Given the description of an element on the screen output the (x, y) to click on. 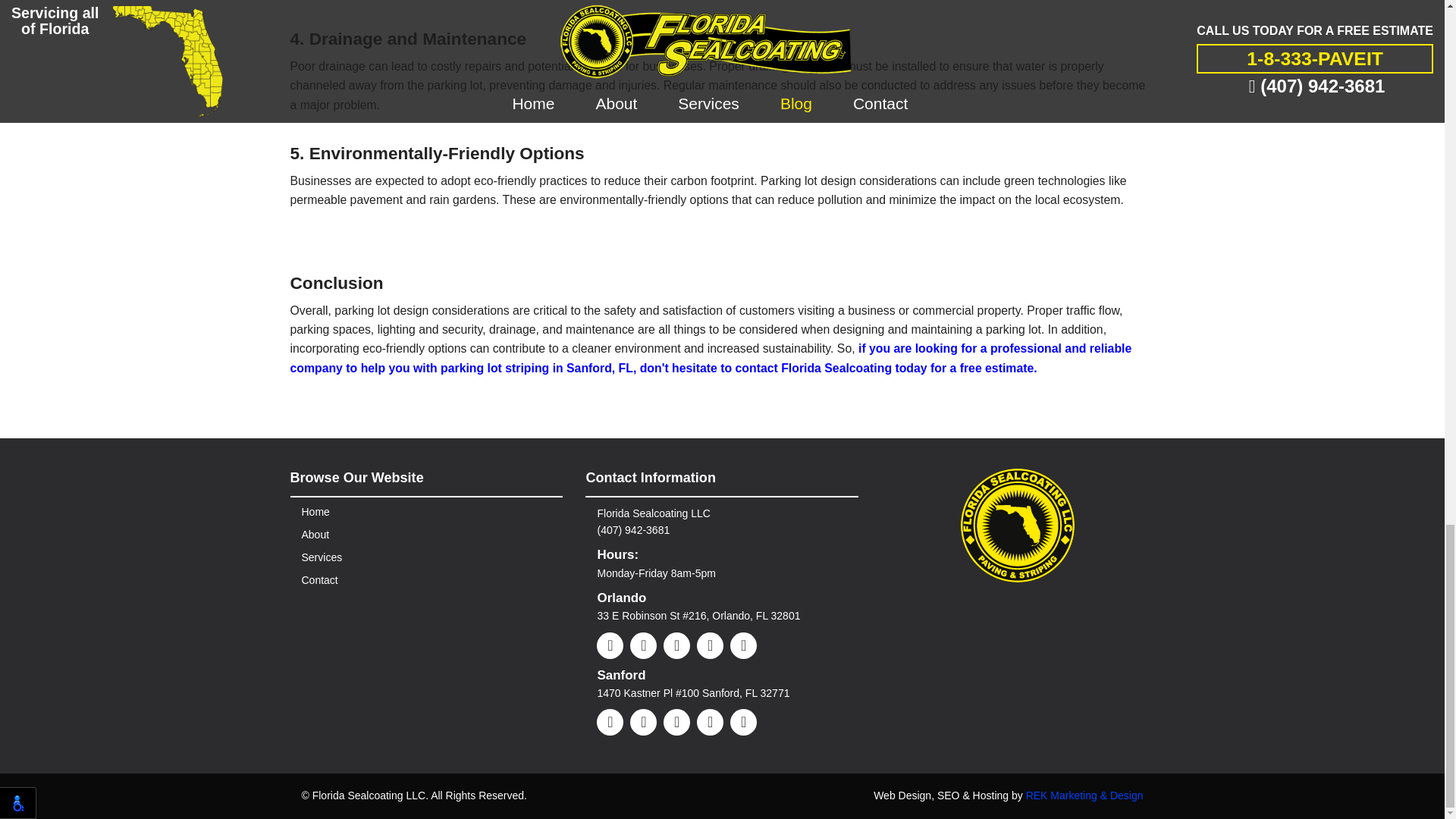
Contact (319, 580)
Contact (319, 580)
Services (321, 557)
About (315, 534)
Services (321, 557)
Home (315, 511)
Home (315, 511)
About (315, 534)
